Given the description of an element on the screen output the (x, y) to click on. 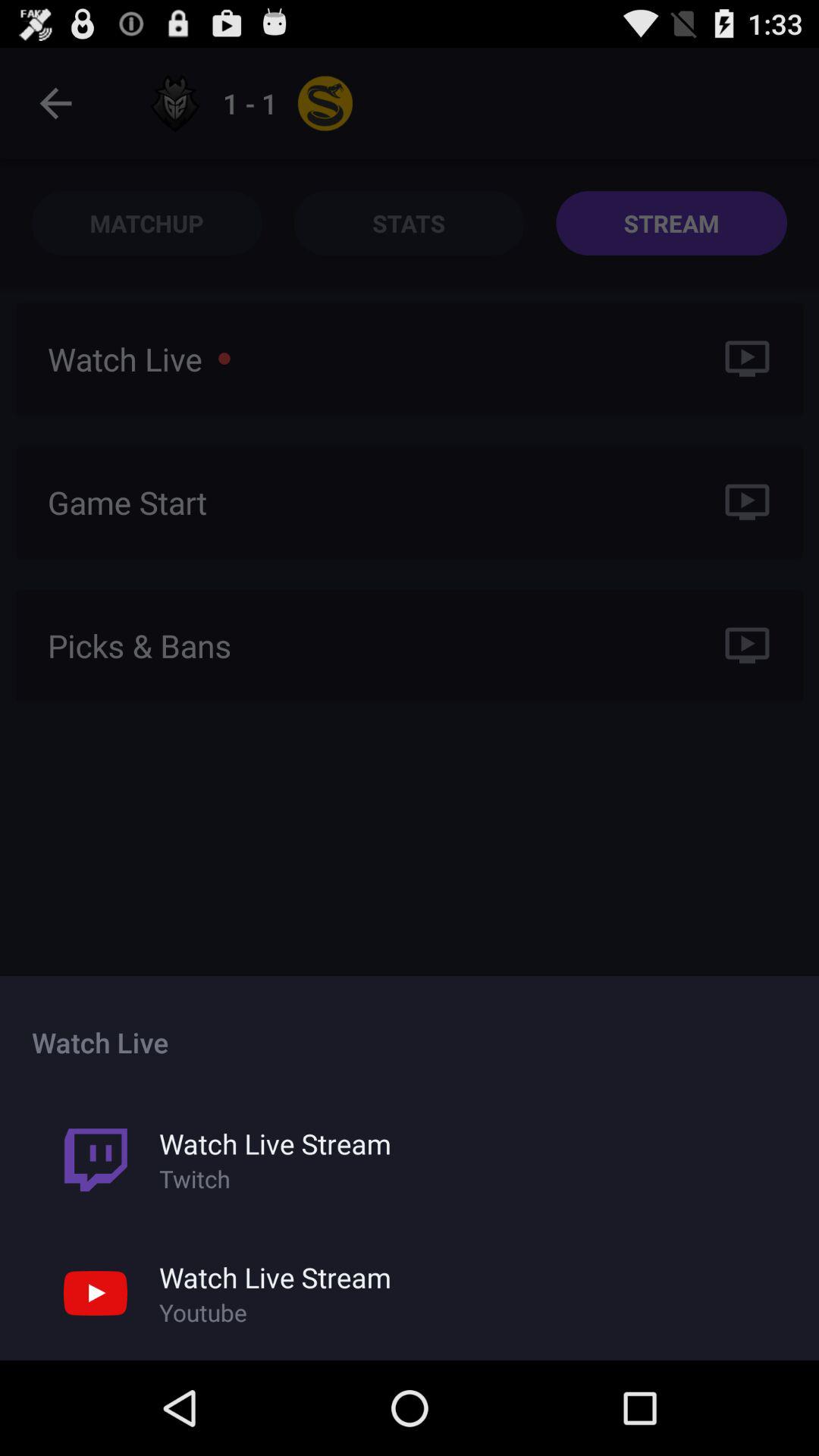
open the icon at the center (409, 703)
